Given the description of an element on the screen output the (x, y) to click on. 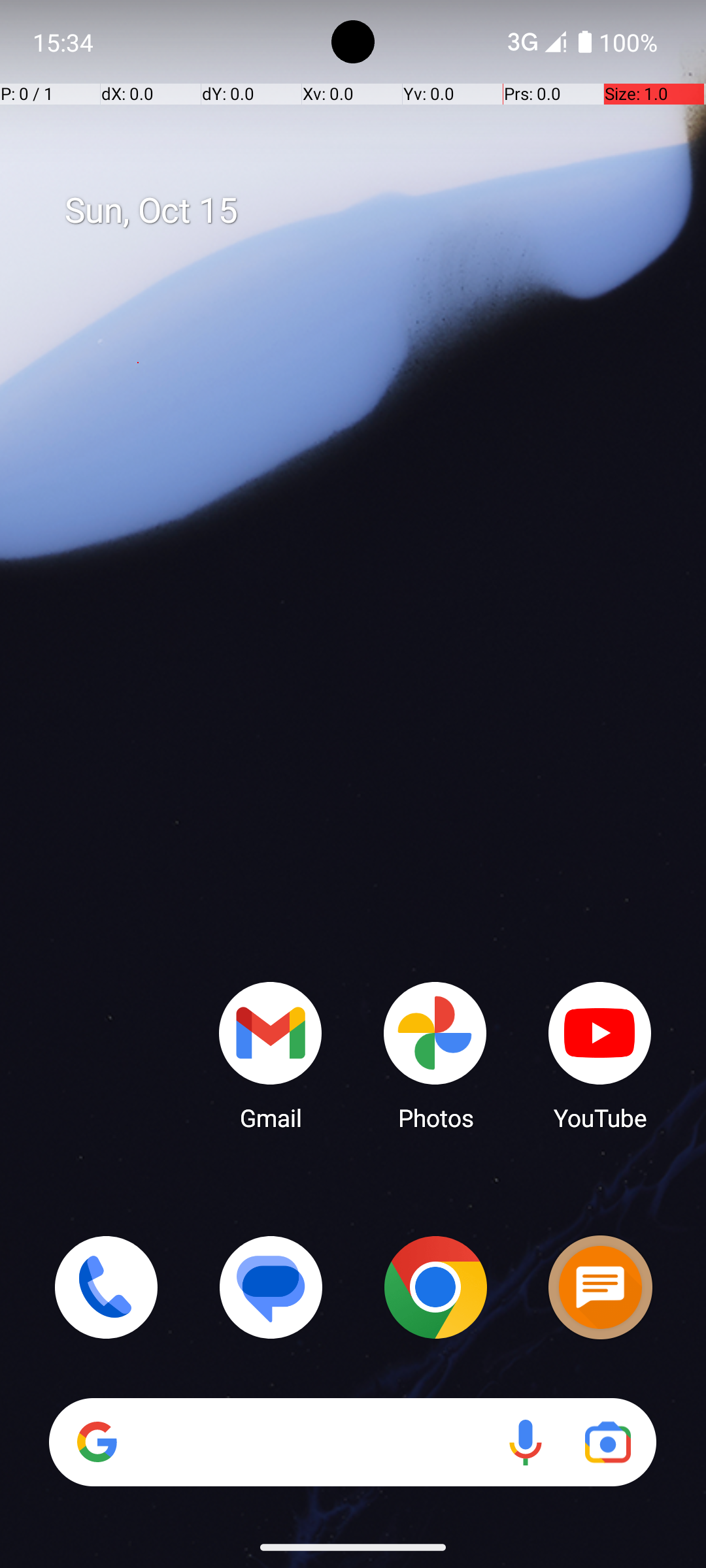
SMS Messenger Element type: android.widget.TextView (599, 1287)
